Given the description of an element on the screen output the (x, y) to click on. 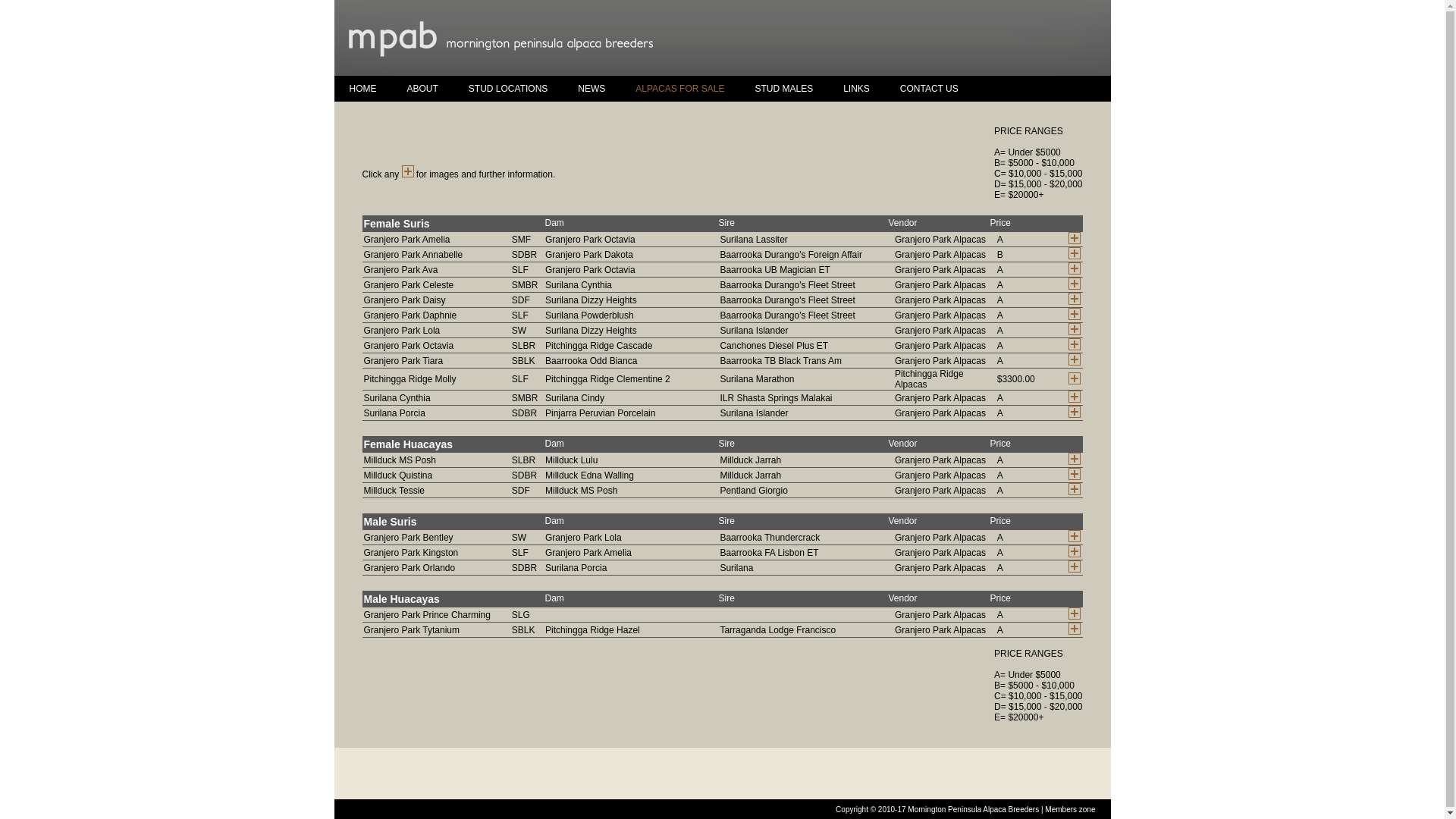
ALPACAS FOR SALE Element type: text (679, 88)
LINKS Element type: text (856, 88)
STUD MALES Element type: text (783, 88)
Members zone Element type: text (1069, 809)
CONTACT US Element type: text (928, 88)
STUD LOCATIONS Element type: text (507, 88)
ABOUT Element type: text (421, 88)
HOME Element type: text (362, 88)
NEWS Element type: text (591, 88)
